Given the description of an element on the screen output the (x, y) to click on. 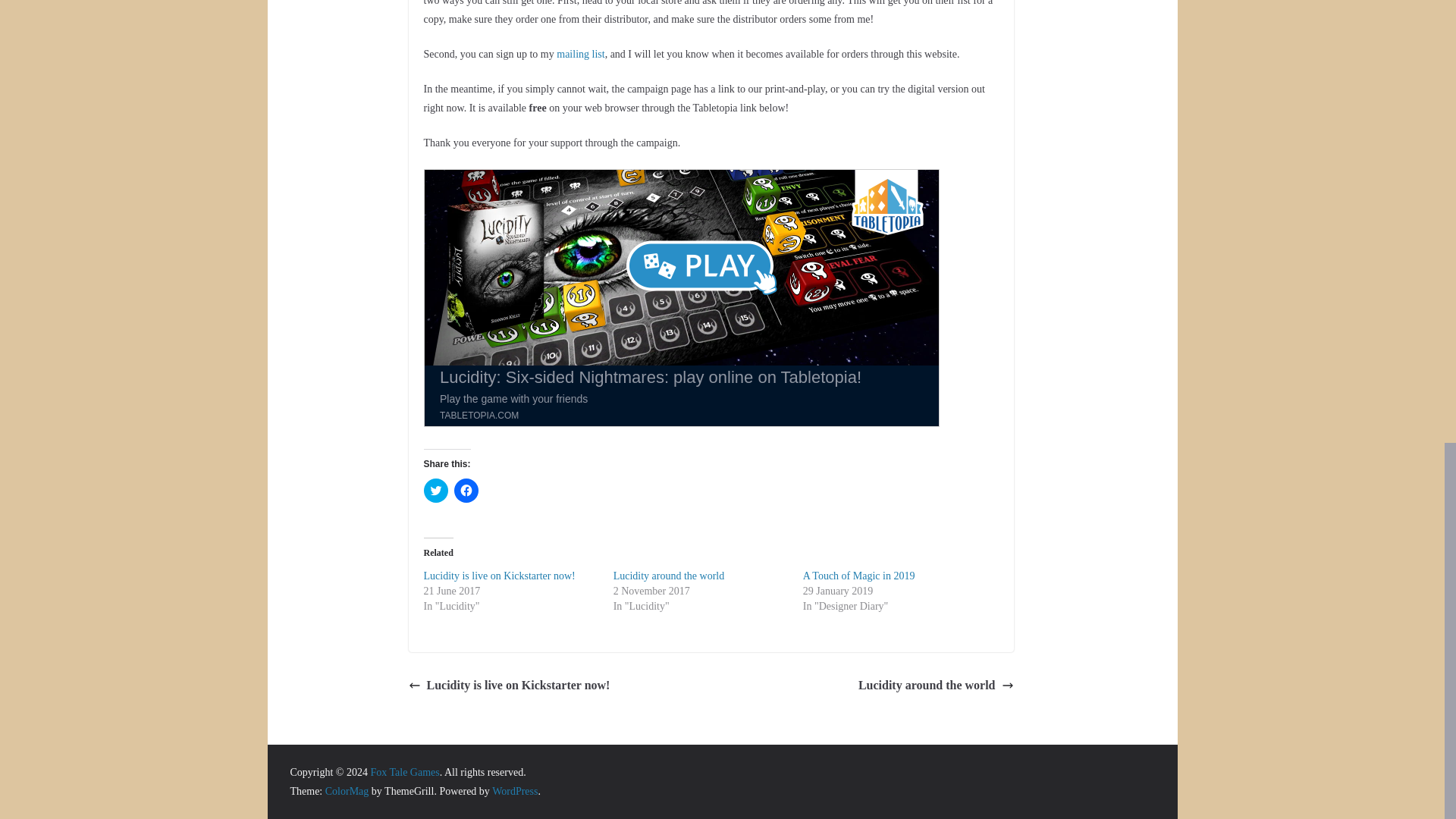
Lucidity is live on Kickstarter now! (499, 575)
Click to share on Facebook (464, 490)
ColorMag (346, 790)
mailing list (580, 53)
Lucidity is live on Kickstarter now! (508, 685)
WordPress (514, 790)
A Touch of Magic in 2019 (859, 575)
Lucidity is live on Kickstarter now! (499, 575)
Lucidity around the world (668, 575)
WordPress (514, 790)
